Given the description of an element on the screen output the (x, y) to click on. 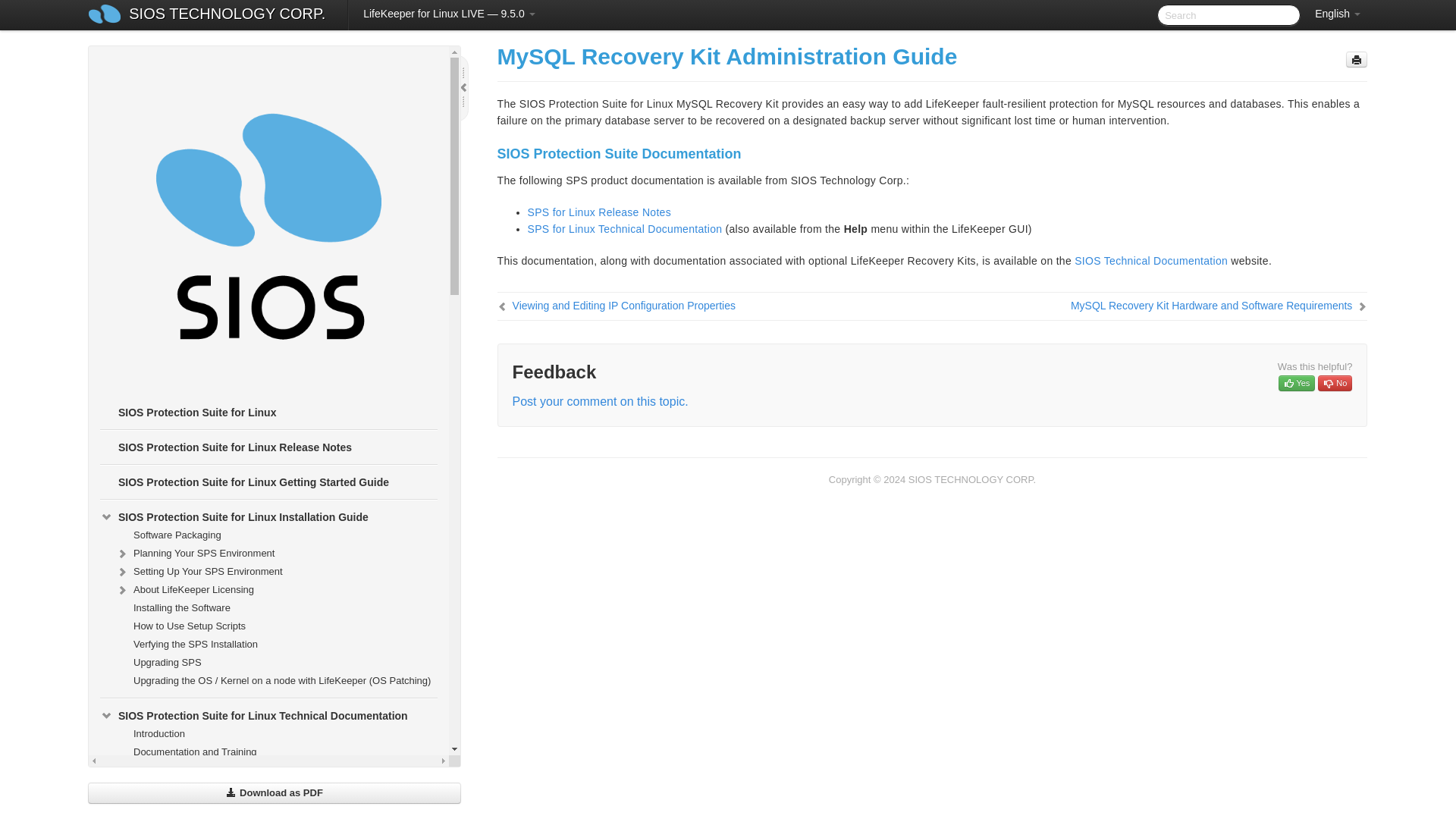
English (1337, 14)
Print page (1356, 59)
SIOS TECHNOLOGY CORP. (226, 15)
